Given the description of an element on the screen output the (x, y) to click on. 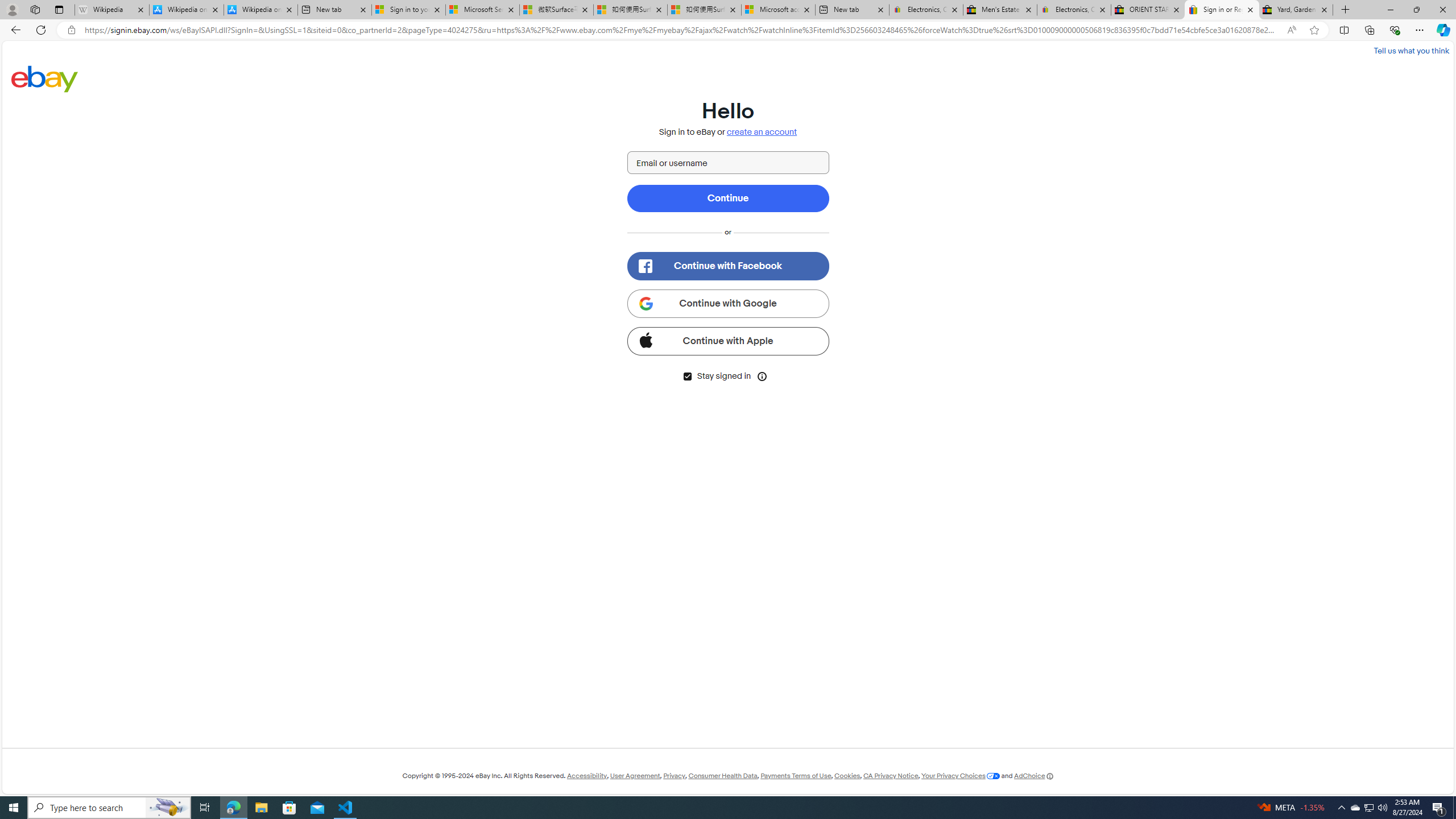
Cookies (847, 775)
eBay Home (44, 78)
Continue with Facebook (727, 266)
eBay Home (44, 78)
Continue with Apple (727, 340)
Email or username (727, 162)
